Given the description of an element on the screen output the (x, y) to click on. 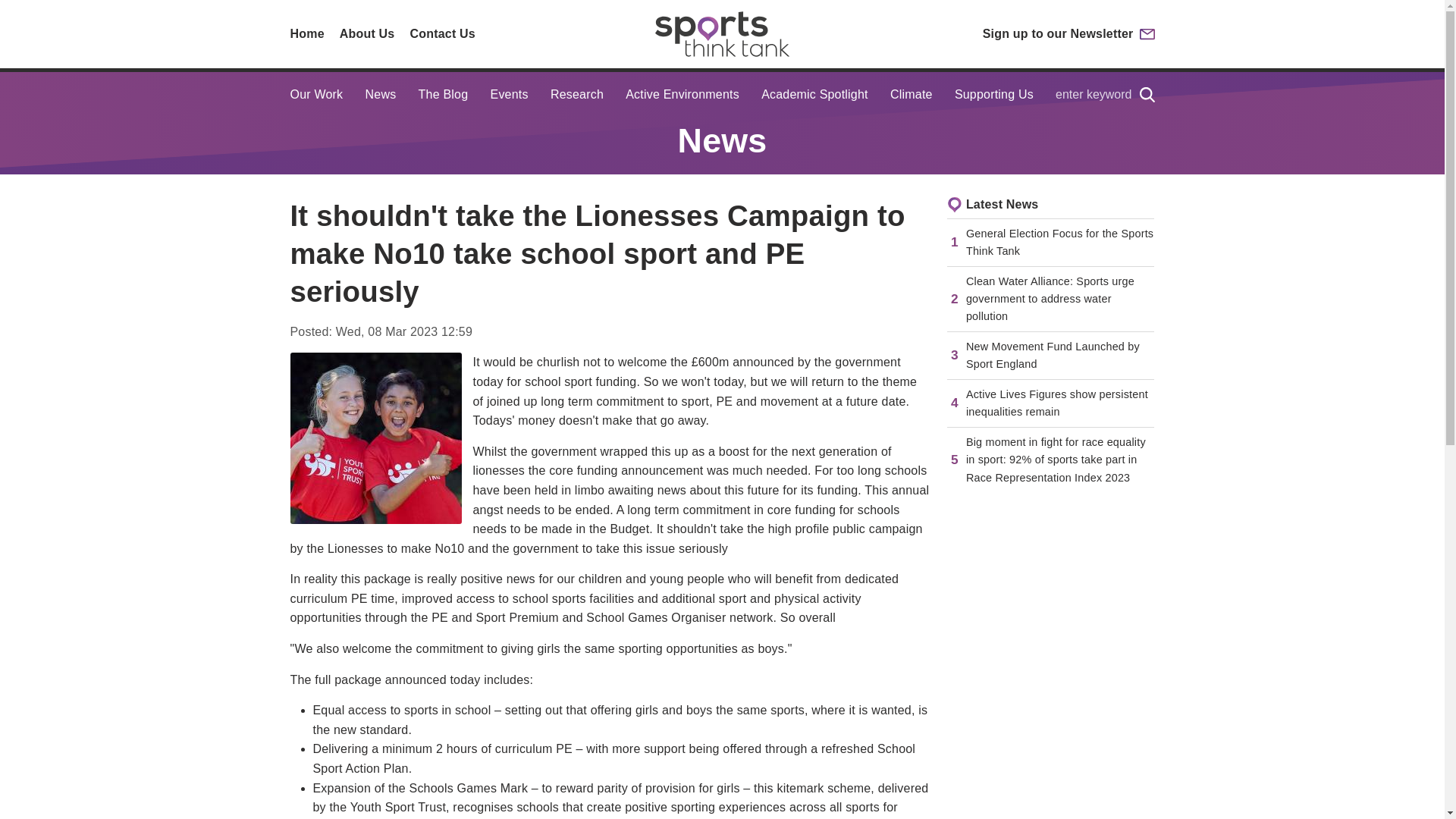
Contact Us (441, 33)
Academic Spotlight (814, 94)
Supporting Us (994, 94)
About Us (366, 33)
Home (306, 33)
Search (1146, 94)
Our Work (315, 94)
About Us (366, 33)
Sign up to our Newsletter (1068, 33)
Events (509, 94)
Sports Think Tank (722, 33)
Home (306, 33)
The Blog (443, 94)
Search (1146, 94)
Climate (911, 94)
